Given the description of an element on the screen output the (x, y) to click on. 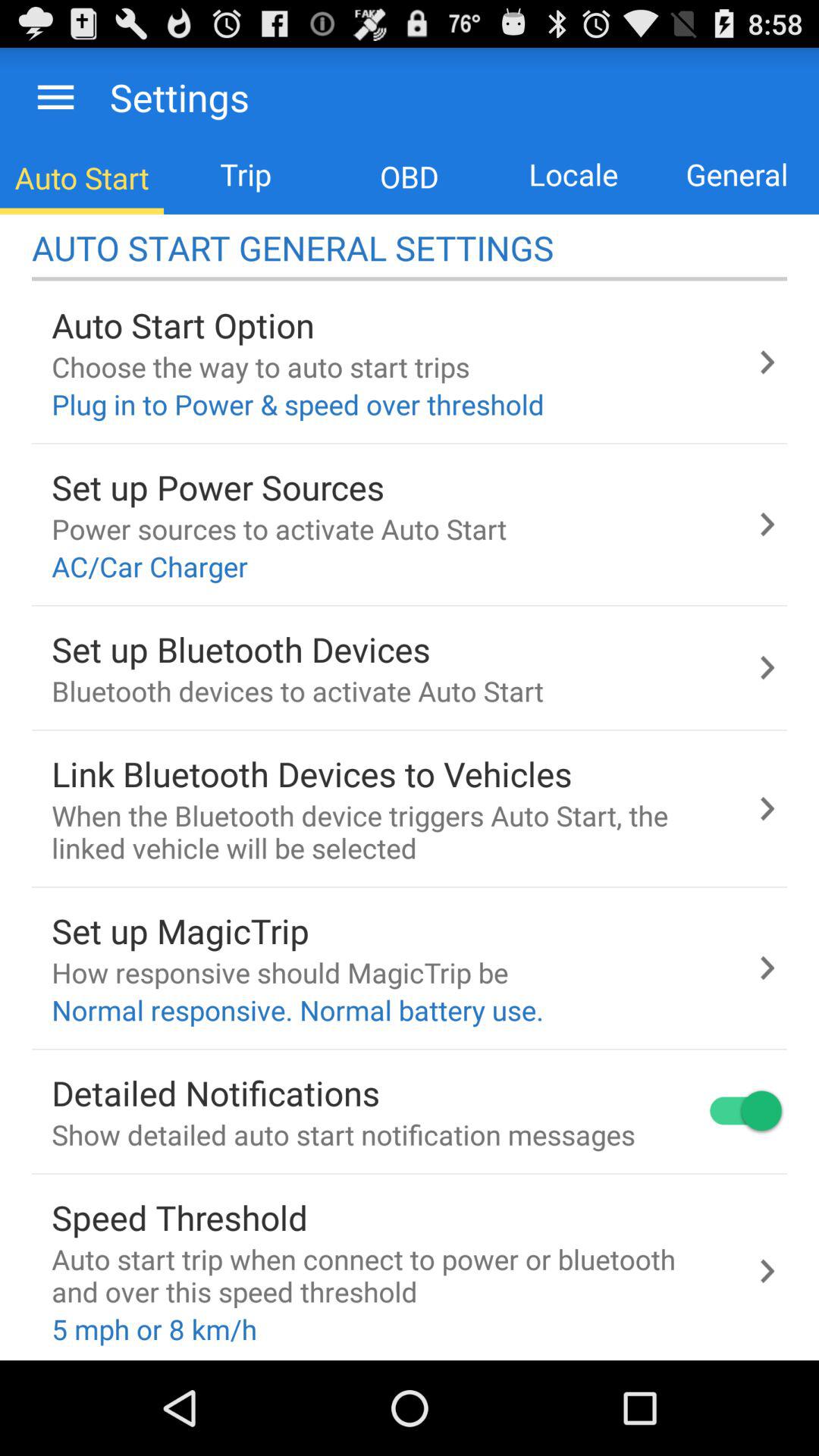
select the next option of the fourth setting (767, 808)
click on third arrow from the top in settings (767, 667)
go to general (737, 174)
select the text locale (573, 174)
